Given the description of an element on the screen output the (x, y) to click on. 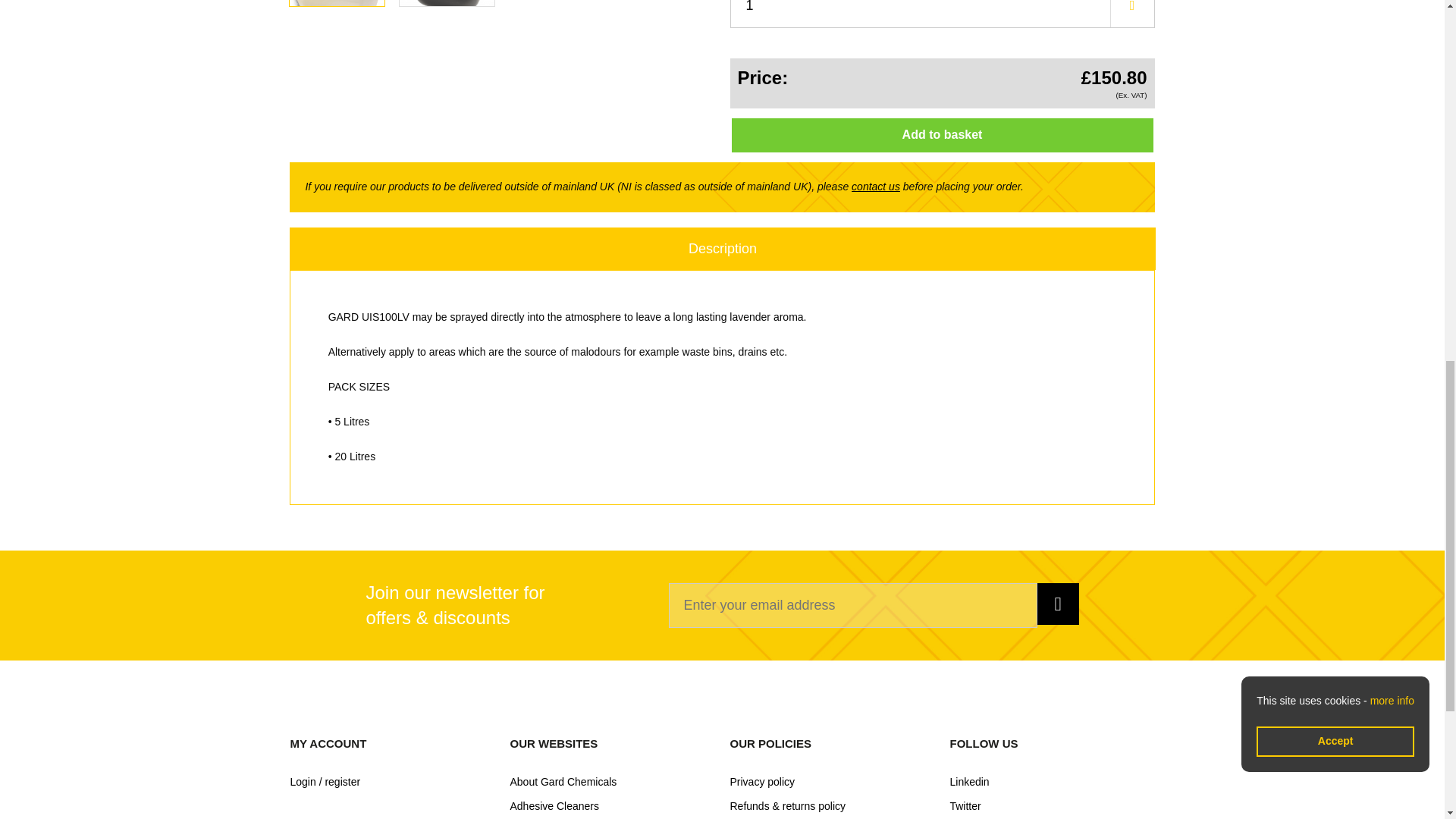
Account (392, 781)
